Given the description of an element on the screen output the (x, y) to click on. 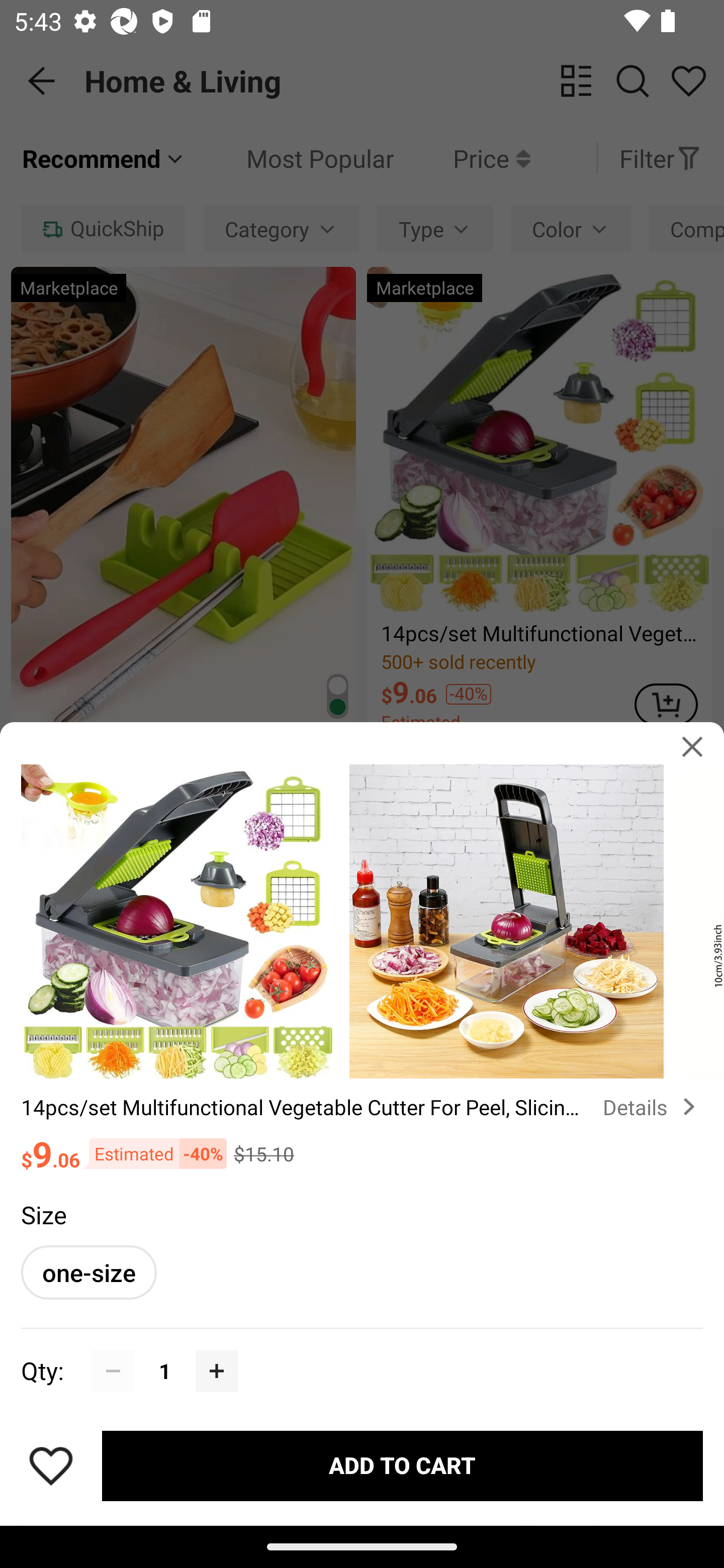
Details (653, 1106)
Estimated -40% (152, 1153)
Size (43, 1213)
one-size one-sizeunselected option (88, 1271)
ADD TO CART (402, 1465)
Save (50, 1465)
